Given the description of an element on the screen output the (x, y) to click on. 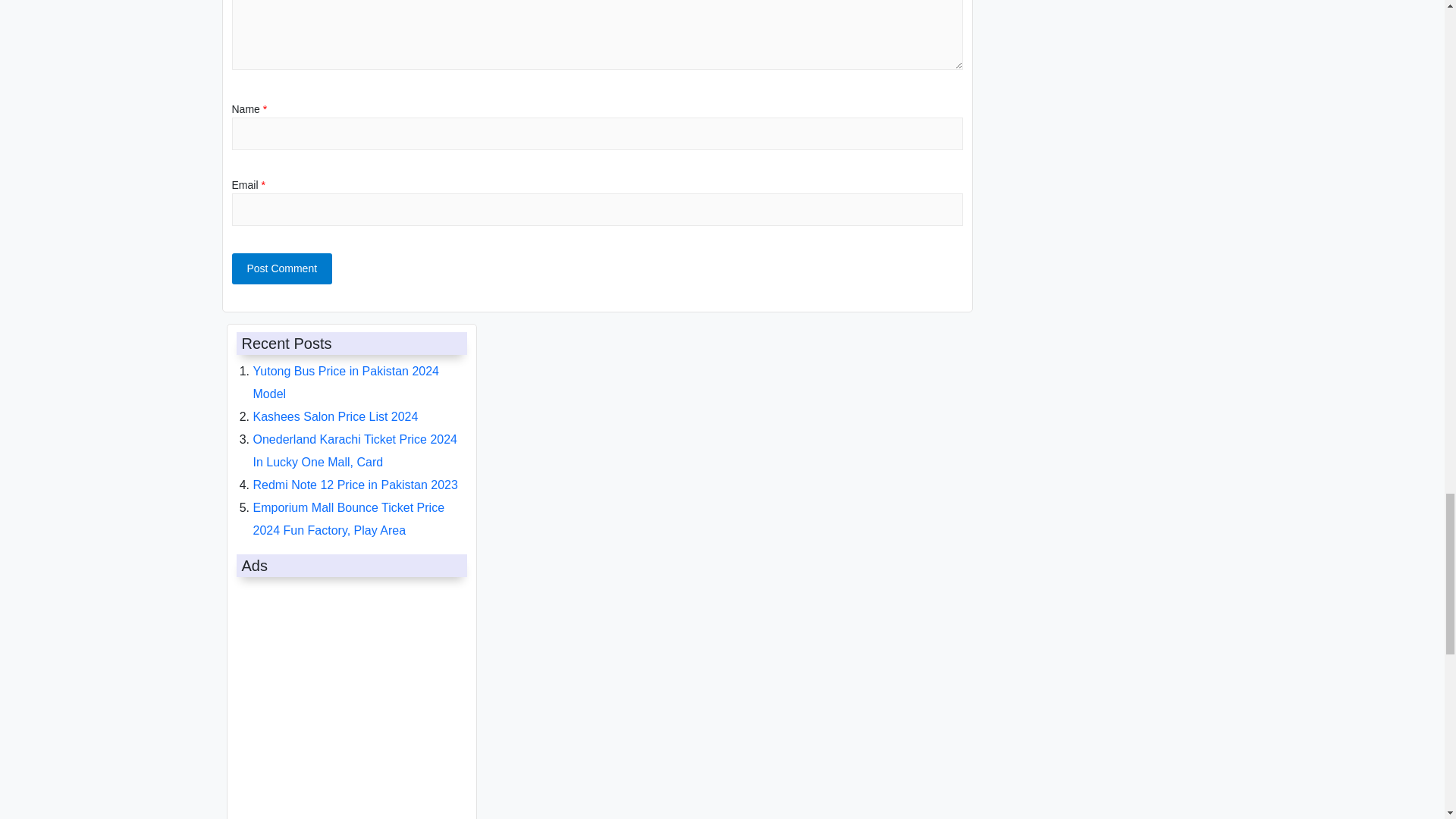
Onederland Karachi Ticket Price 2024 In Lucky One Mall, Card (355, 450)
Kashees Salon Price List 2024 (336, 416)
Post Comment (282, 268)
Redmi Note 12 Price in Pakistan 2023 (355, 484)
Post Comment (282, 268)
Advertisement (346, 700)
Yutong Bus Price in Pakistan 2024 Model (346, 382)
